Given the description of an element on the screen output the (x, y) to click on. 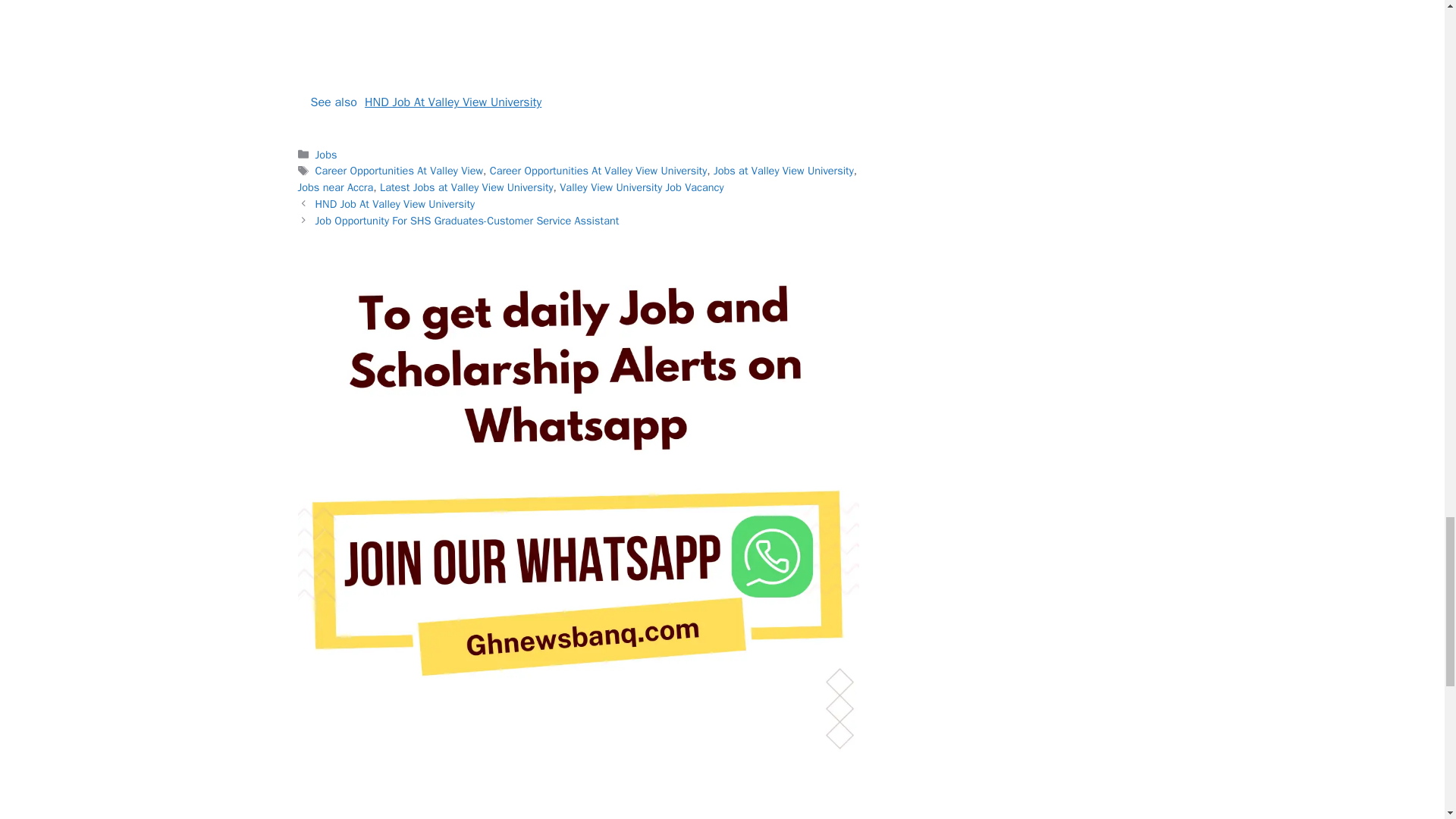
Career Opportunities At Valley View (399, 170)
Advertisement (578, 36)
See also  HND Job At Valley View University (578, 102)
Job Opportunity For SHS Graduates-Customer Service Assistant (467, 220)
Jobs at Valley View University (783, 170)
Jobs (326, 154)
Career Opportunities At Valley View University (598, 170)
HND Job At Valley View University (395, 203)
Latest Jobs at Valley View University (466, 187)
Valley View University Job Vacancy (641, 187)
Jobs near Accra (334, 187)
